Given the description of an element on the screen output the (x, y) to click on. 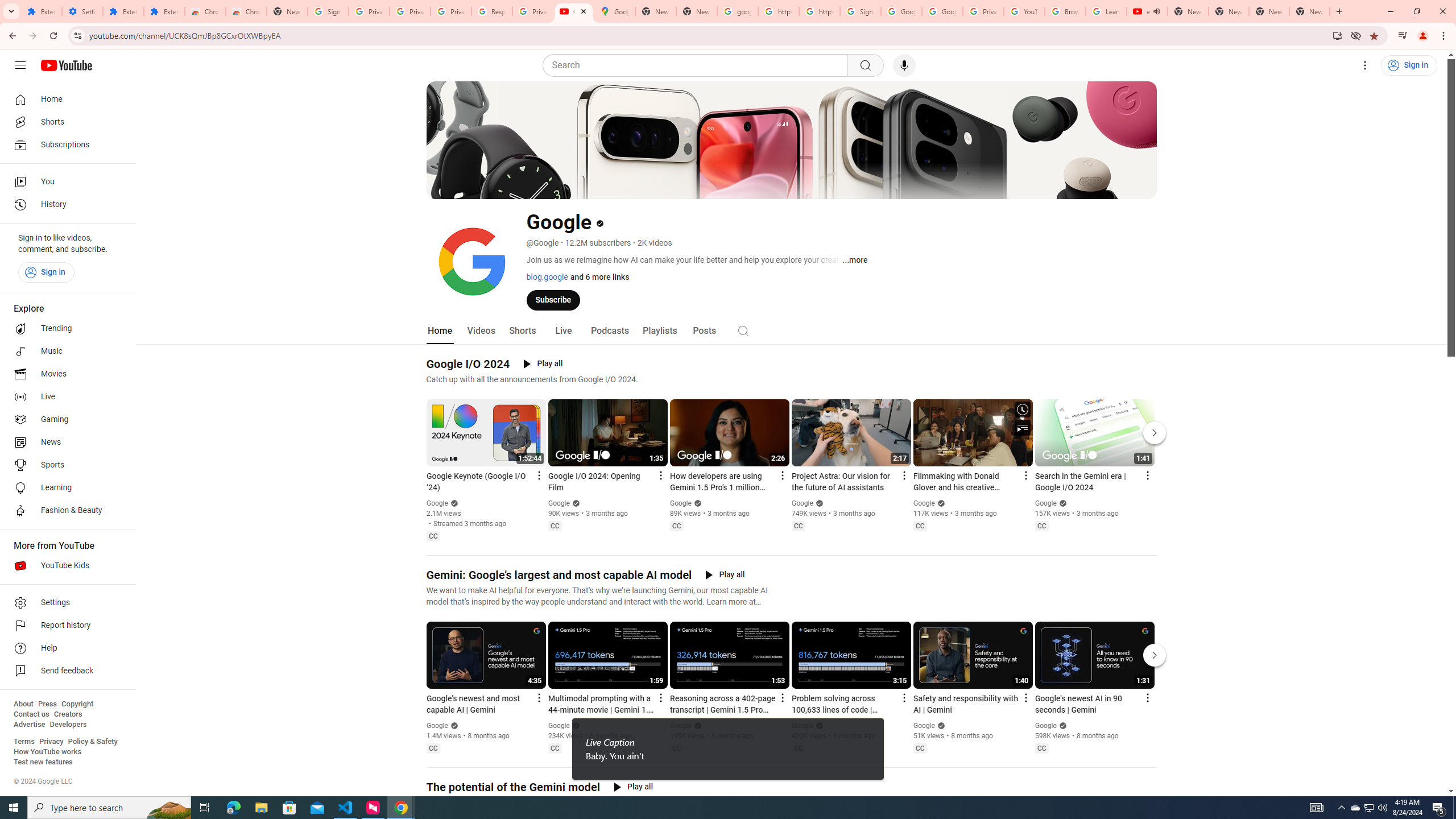
Closed captions (1041, 748)
Send feedback (64, 671)
Install YouTube (1336, 35)
https://scholar.google.com/ (777, 11)
Press (46, 703)
Sports (64, 464)
